Given the description of an element on the screen output the (x, y) to click on. 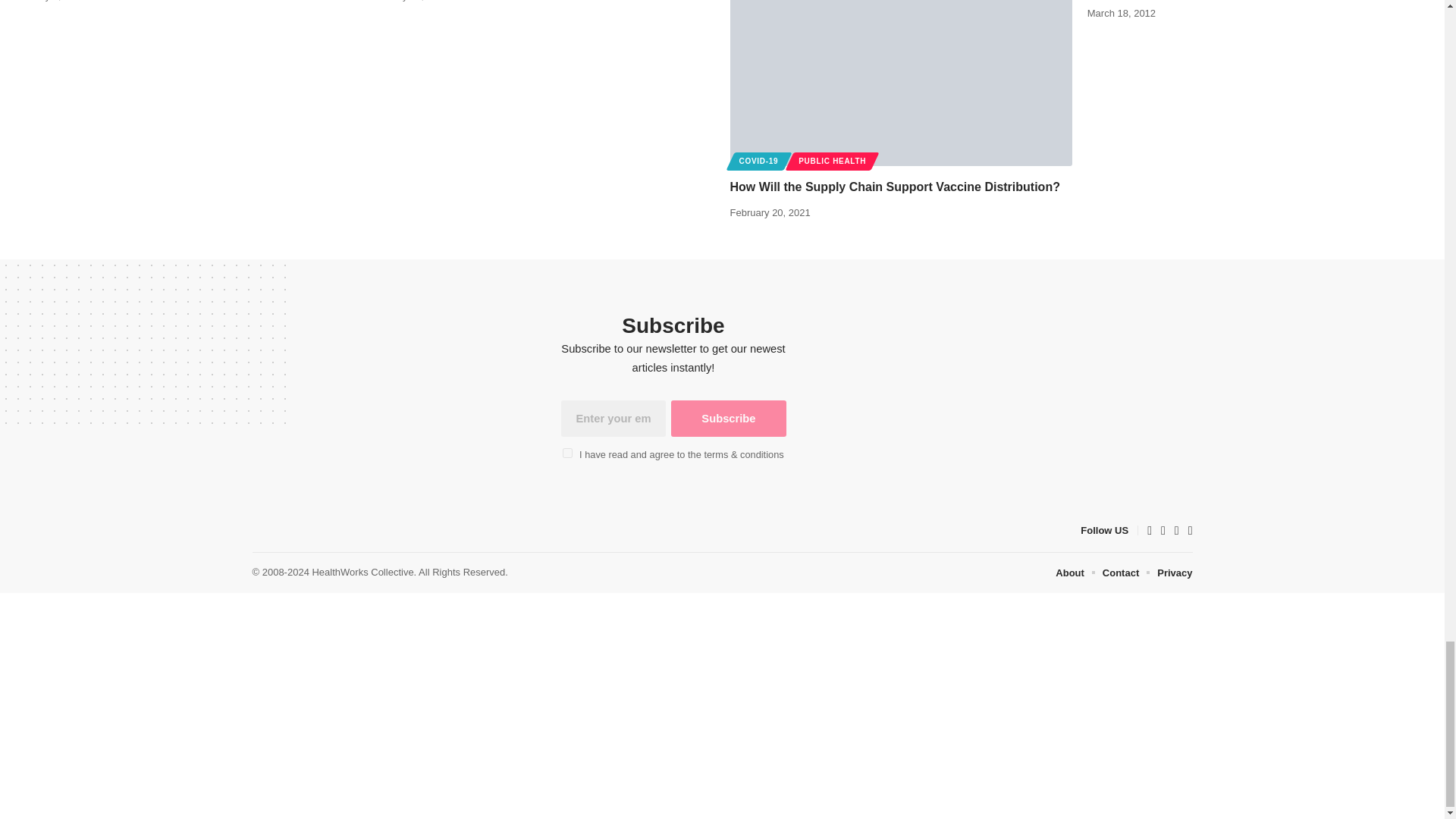
1 (567, 452)
Subscribe (728, 418)
